Given the description of an element on the screen output the (x, y) to click on. 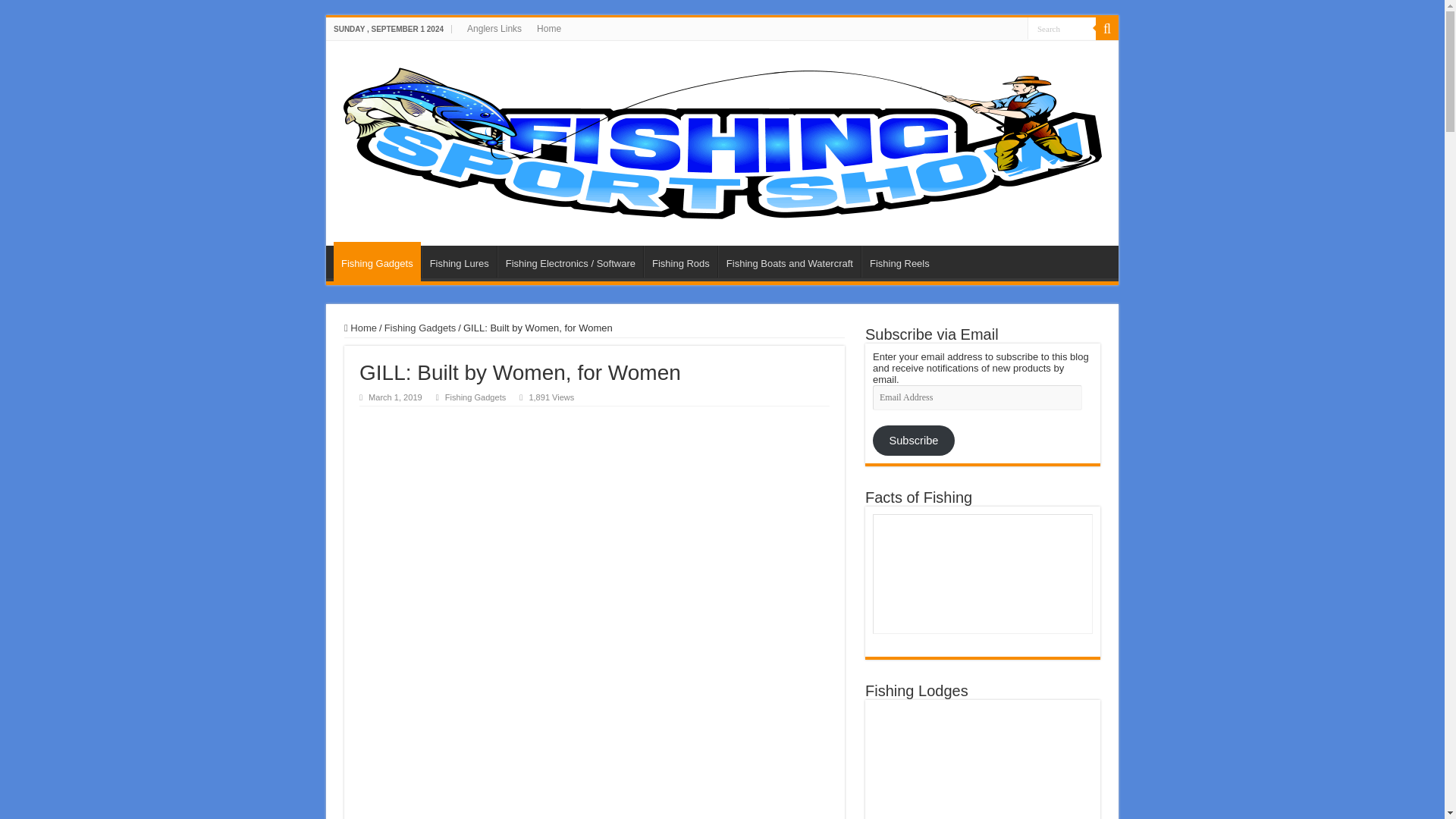
Fishing Gadgets (420, 327)
Fishing Sport Show (721, 140)
Fishing Reels (899, 261)
Fishing Boats and Watercraft (788, 261)
Fishing Gadgets (475, 397)
Home (549, 28)
Fishing Rods (680, 261)
Home (360, 327)
YouTube player (982, 573)
Search (1061, 28)
